Given the description of an element on the screen output the (x, y) to click on. 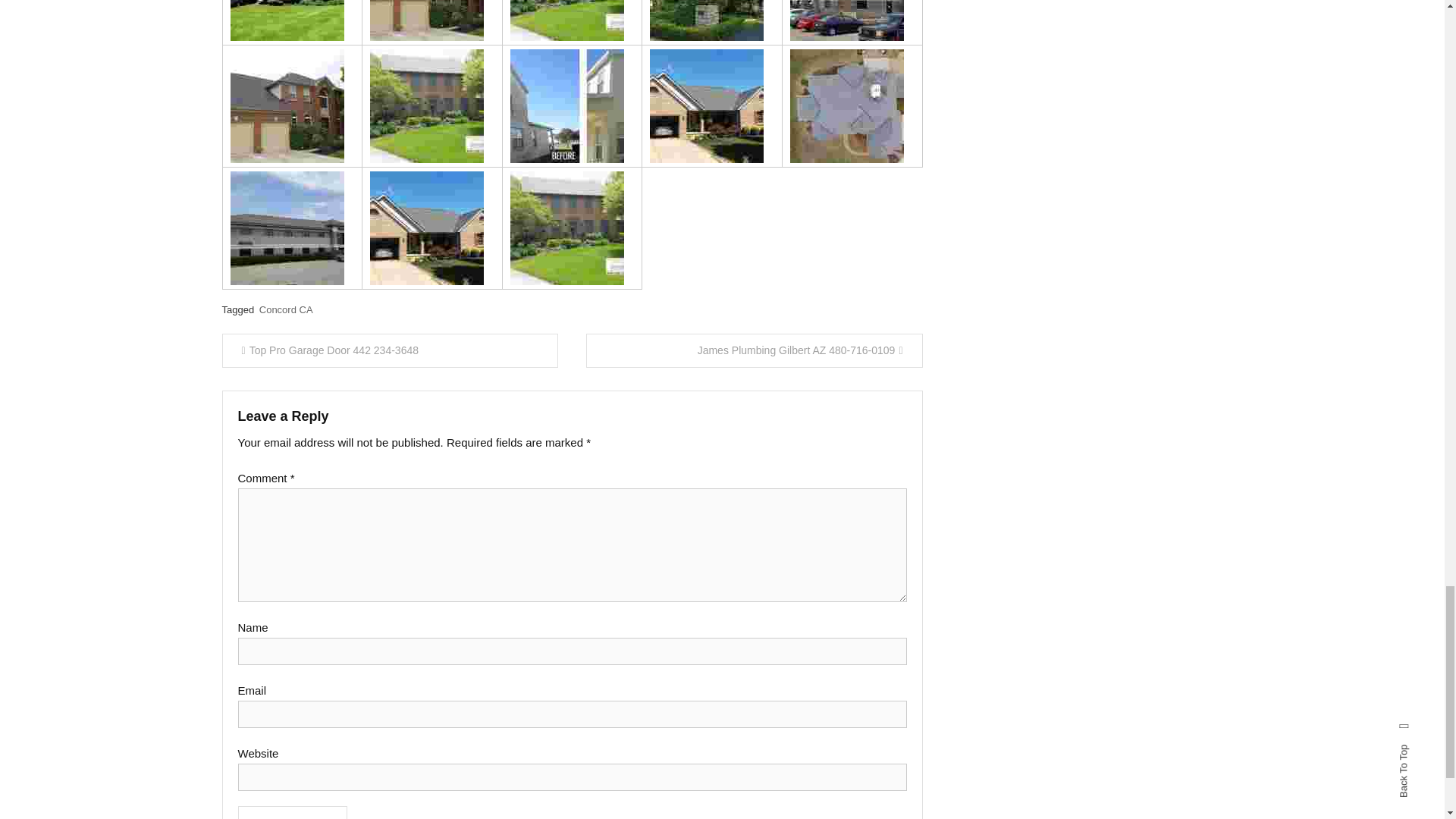
Post Comment (292, 812)
Golden Heights Remodeling INC   800-521-0950 (847, 20)
Golden Heights Remodeling INC   800-521-0950 (567, 20)
Golden Heights Remodeling INC   800-521-0950 (705, 20)
Golden Heights Remodeling INC   800-521-0950 (426, 105)
Golden Heights Remodeling INC   800-521-0950 (426, 20)
Golden Heights Remodeling INC   800-521-0950 (286, 105)
Golden Heights Remodeling INC   800-521-0950 (567, 105)
Golden Heights Remodeling INC   800-521-0950 (286, 20)
